Given the description of an element on the screen output the (x, y) to click on. 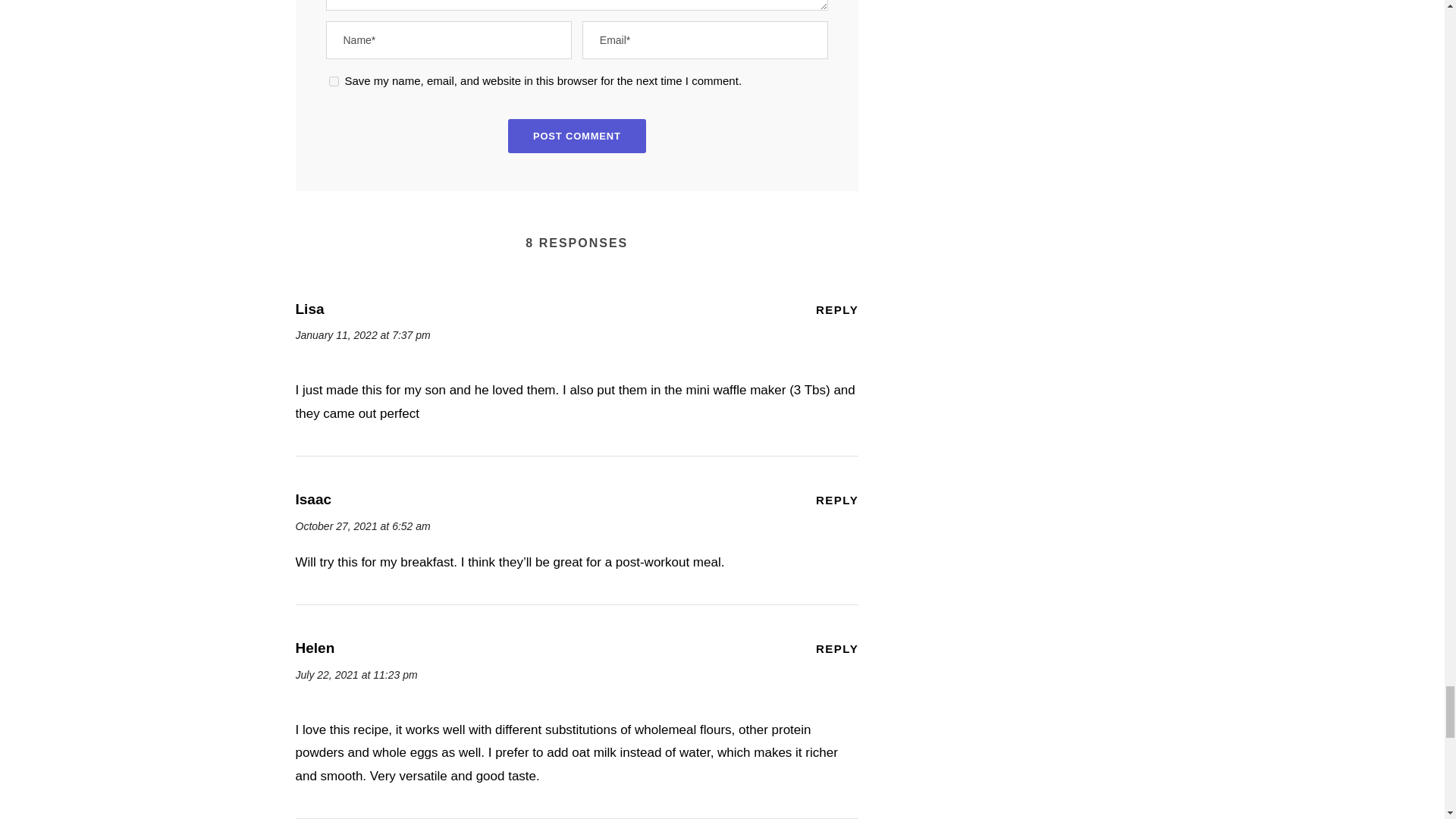
Post Comment (577, 135)
yes (334, 81)
